Given the description of an element on the screen output the (x, y) to click on. 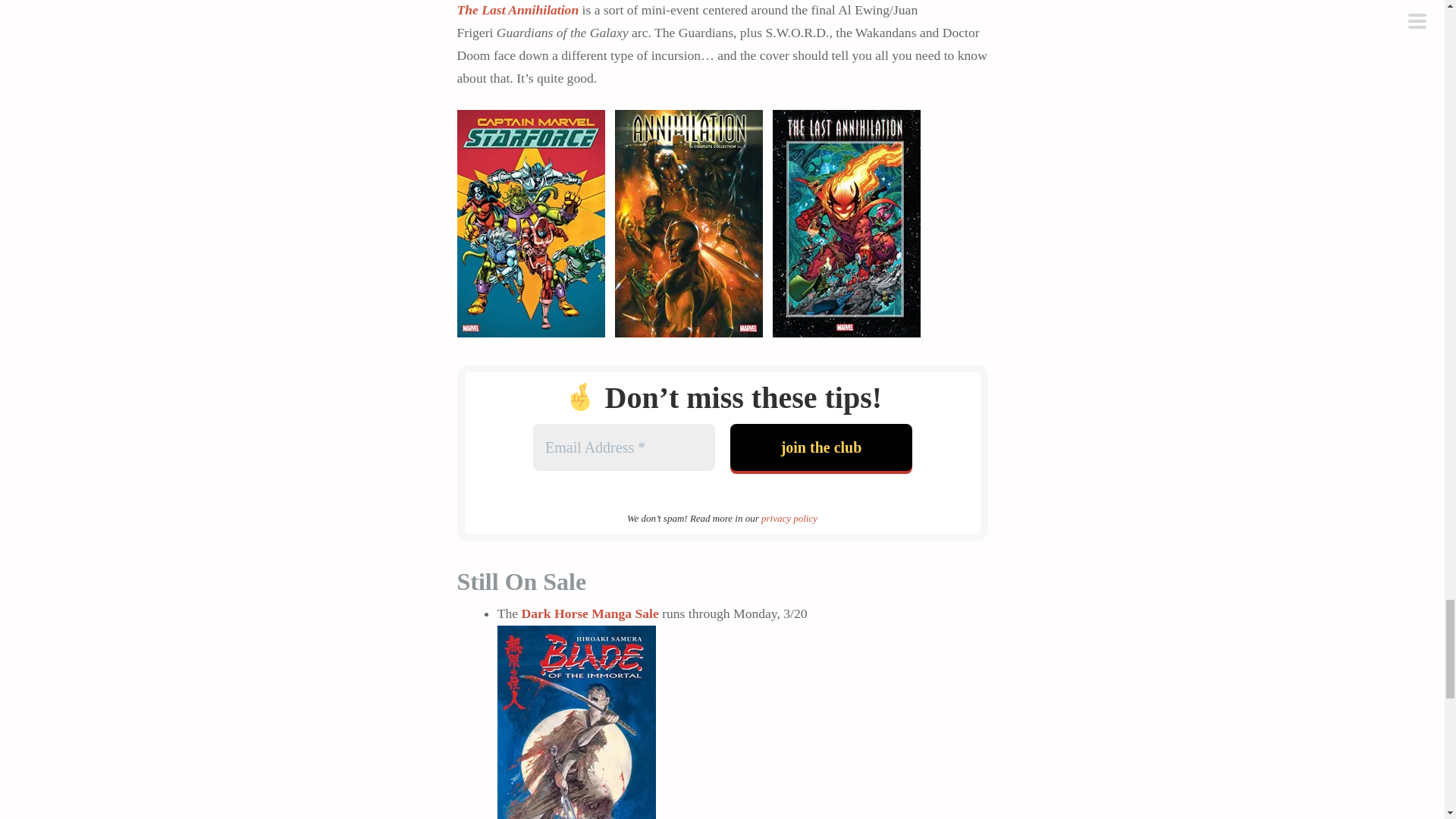
JOIN THE CLUB (820, 447)
Email Address (623, 447)
